Given the description of an element on the screen output the (x, y) to click on. 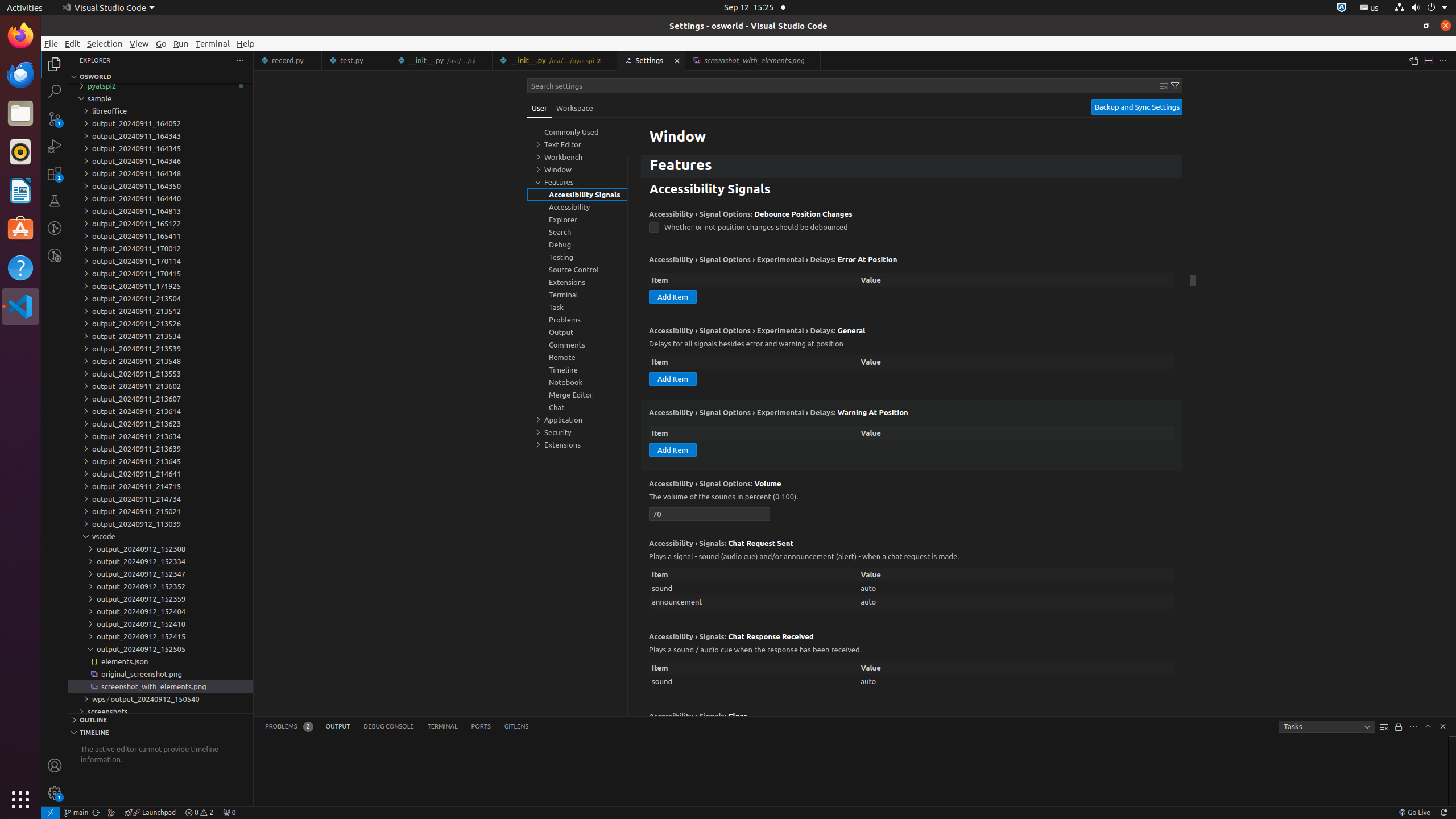
output_20240912_152359 Element type: tree-item (160, 598)
Edit Element type: push-button (72, 43)
output_20240911_164345 Element type: tree-item (160, 148)
Timeline, group Element type: tree-item (577, 369)
output_20240911_213553 Element type: tree-item (160, 373)
